Given the description of an element on the screen output the (x, y) to click on. 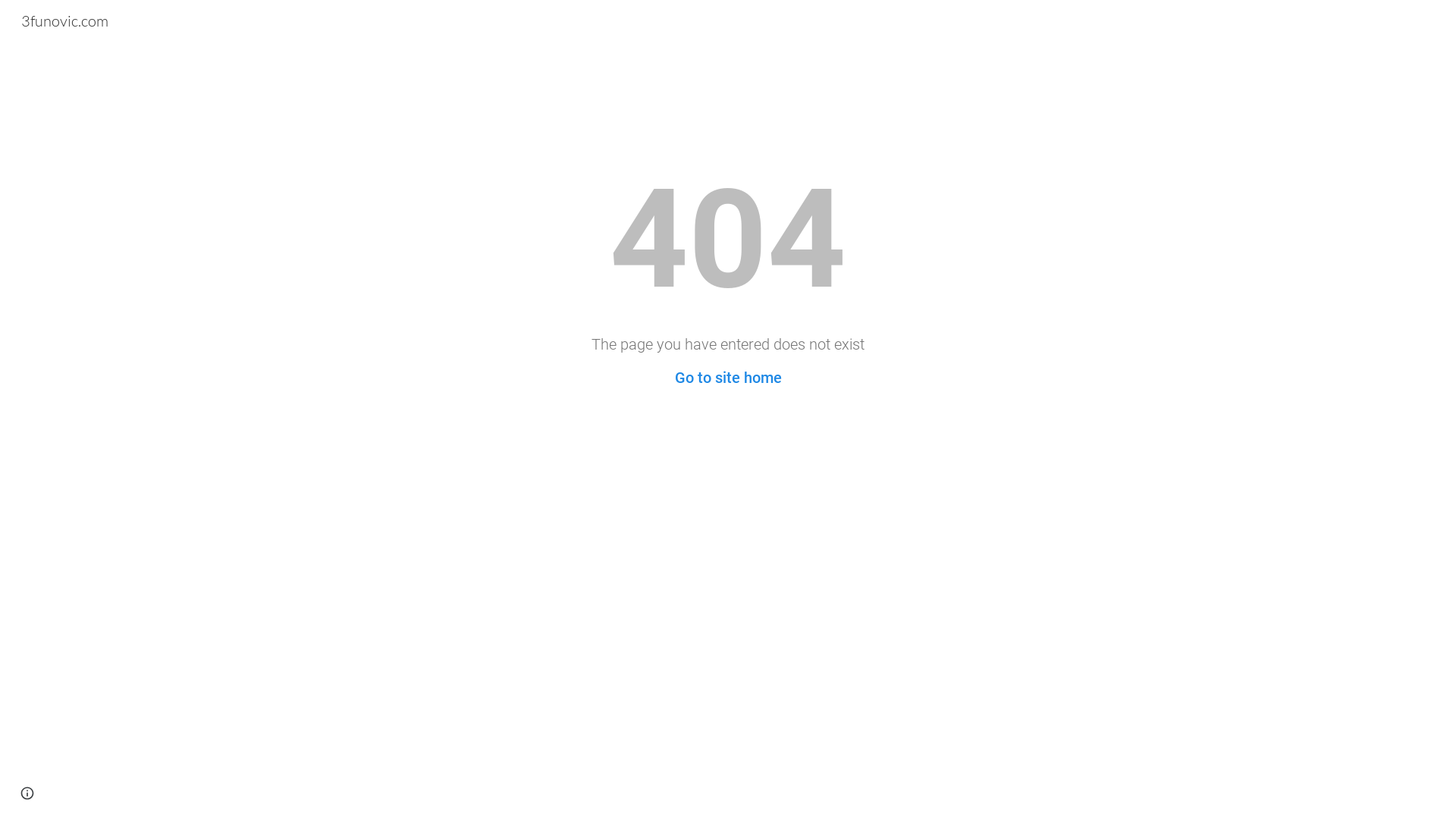
3funovic.com Element type: text (64, 18)
Go to site home Element type: text (727, 377)
